Given the description of an element on the screen output the (x, y) to click on. 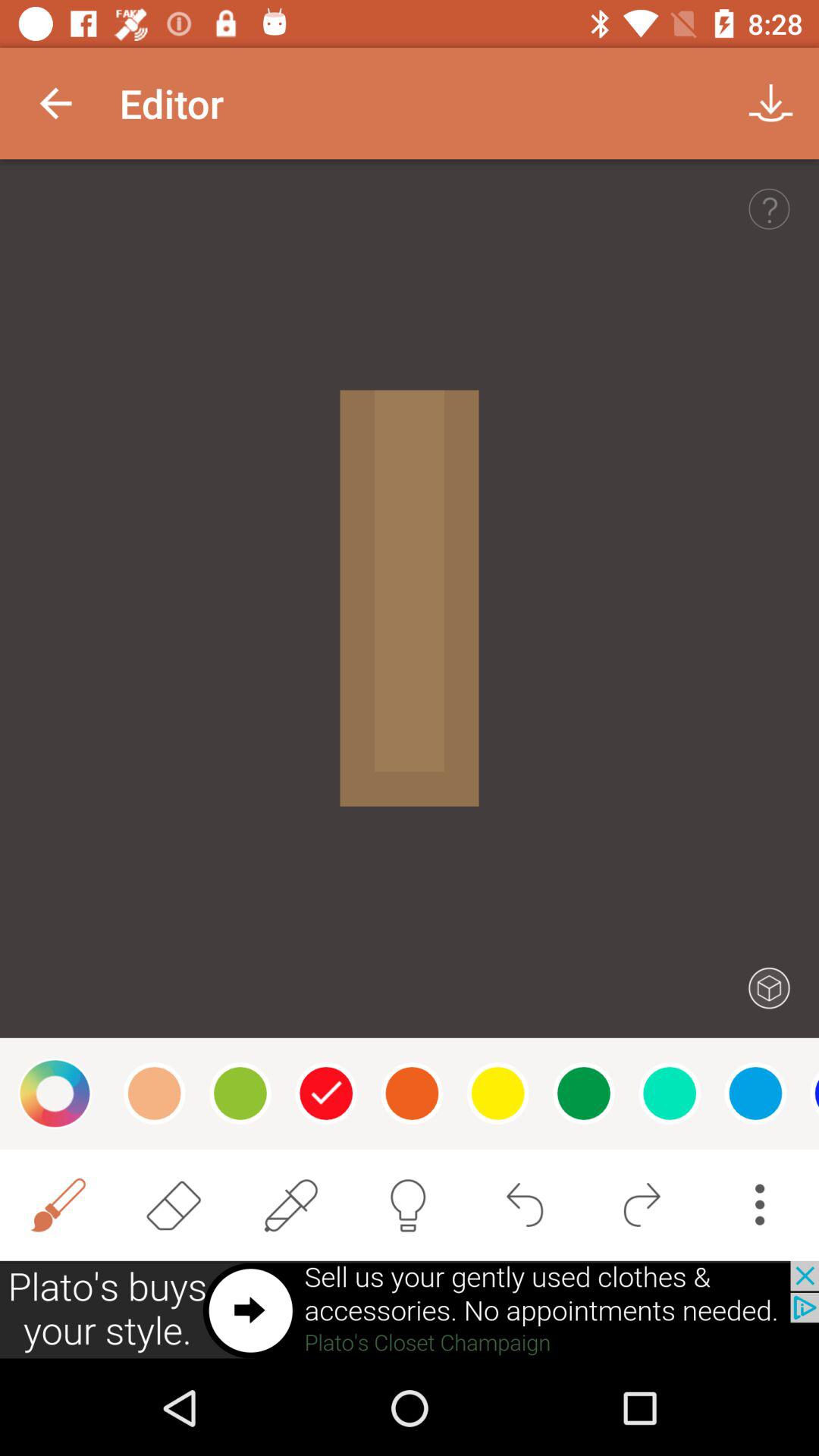
advert pop up (409, 1310)
